Given the description of an element on the screen output the (x, y) to click on. 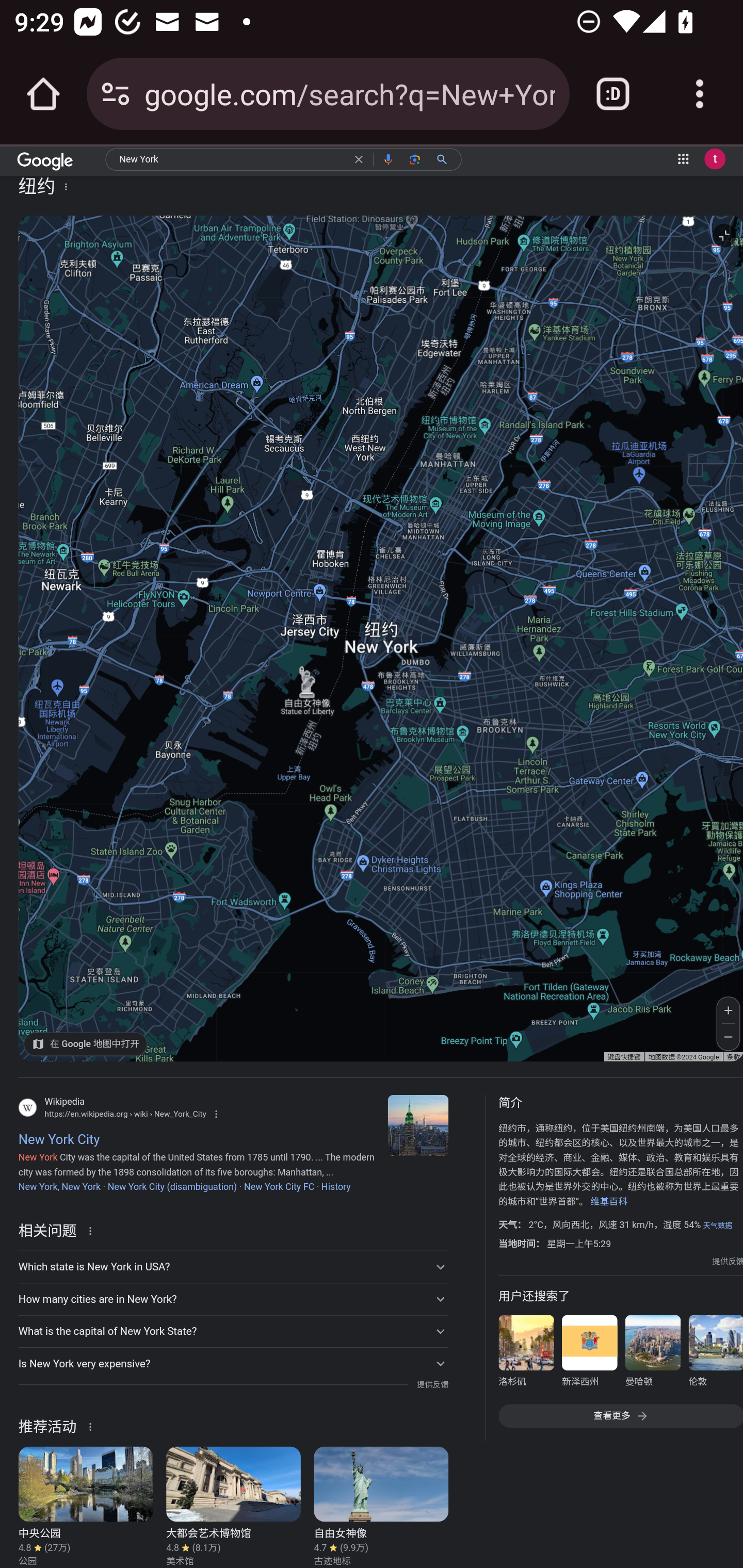
Open the home page (43, 93)
Connection is secure (115, 93)
Switch or close tabs (612, 93)
Customize and control Google Chrome (699, 93)
Google 应用 (682, 158)
Google 账号： test appium (testappium002@gmail.com) (714, 158)
清除 (358, 158)
按语音搜索 (388, 158)
按图搜索 (415, 158)
搜索 (445, 158)
New York (231, 160)
Google (45, 163)
更多选项 (65, 185)
收起地图 (723, 234)
放大 (728, 1010)
缩小 (728, 1036)
在 Google 地图中打开 (85, 1043)
New_York_City (417, 1124)
New York, New York (58, 1185)
New York City (disambiguation) (171, 1185)
New York City FC (278, 1185)
History (335, 1185)
维基百科 (608, 1200)
天气数据 (717, 1224)
关于这条结果的详细信息 (93, 1230)
Which state is New York in USA? (232, 1266)
提供反馈 (727, 1260)
How many cities are in New York? (232, 1298)
洛杉矶 (526, 1353)
新泽西州 (588, 1353)
曼哈顿 (652, 1353)
伦敦 (715, 1353)
What is the capital of New York State? (232, 1331)
Is New York very expensive? (232, 1362)
提供反馈 (432, 1384)
查看更多 查看更多 查看更多 (620, 1415)
关于这条结果的详细信息 (93, 1425)
